Given the description of an element on the screen output the (x, y) to click on. 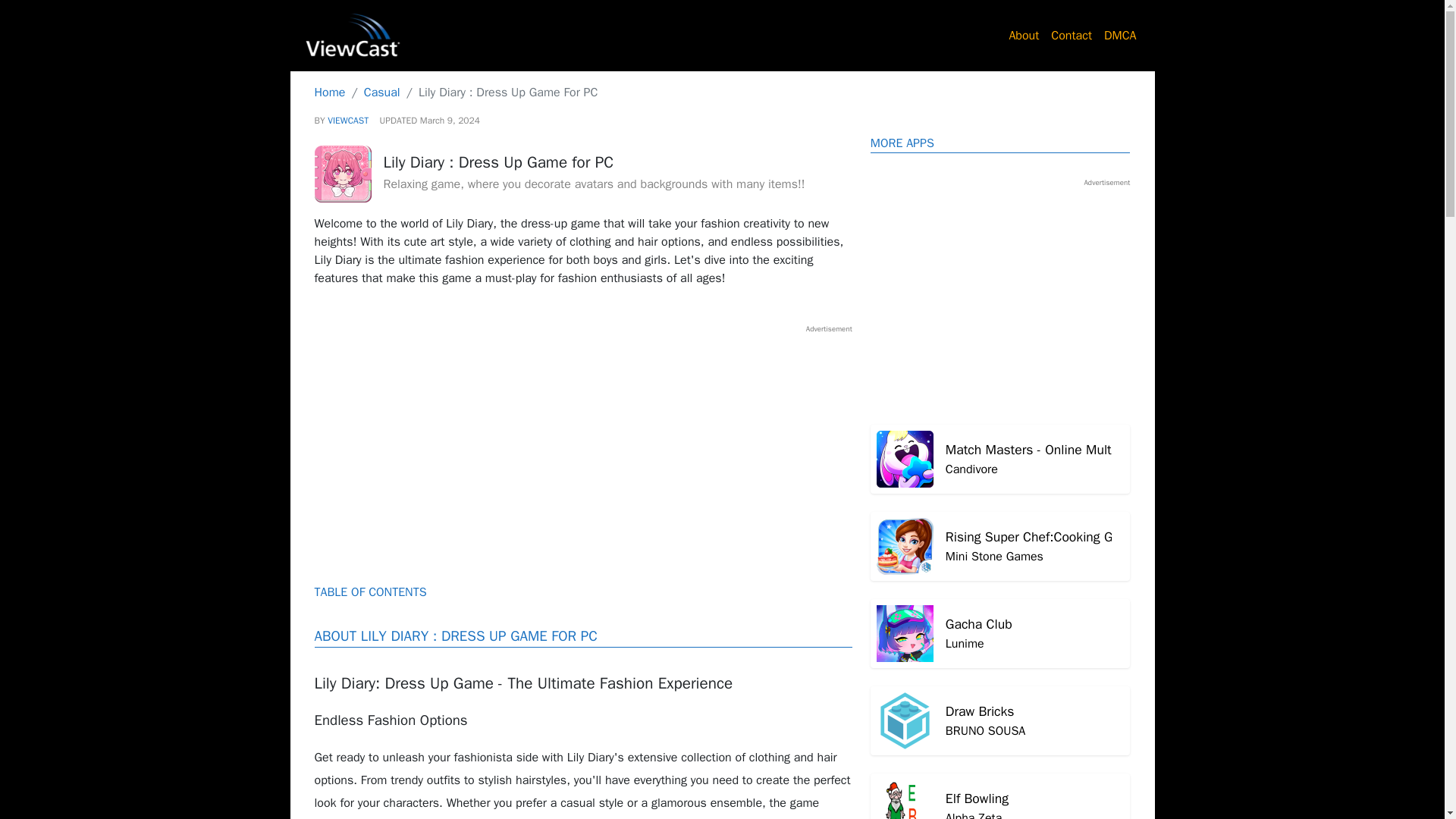
Advertisement (1000, 796)
Elf Bowling for PC (1000, 294)
Match Masters - Online Multiplayer Match 3 Puzzle for PC (1000, 796)
Home (1000, 459)
Casual (329, 92)
Advertisement (1000, 459)
About (1000, 720)
DMCA (382, 92)
Draw Bricks for PC (1000, 633)
Gacha Club for PC (582, 440)
Contact (1024, 35)
